Given the description of an element on the screen output the (x, y) to click on. 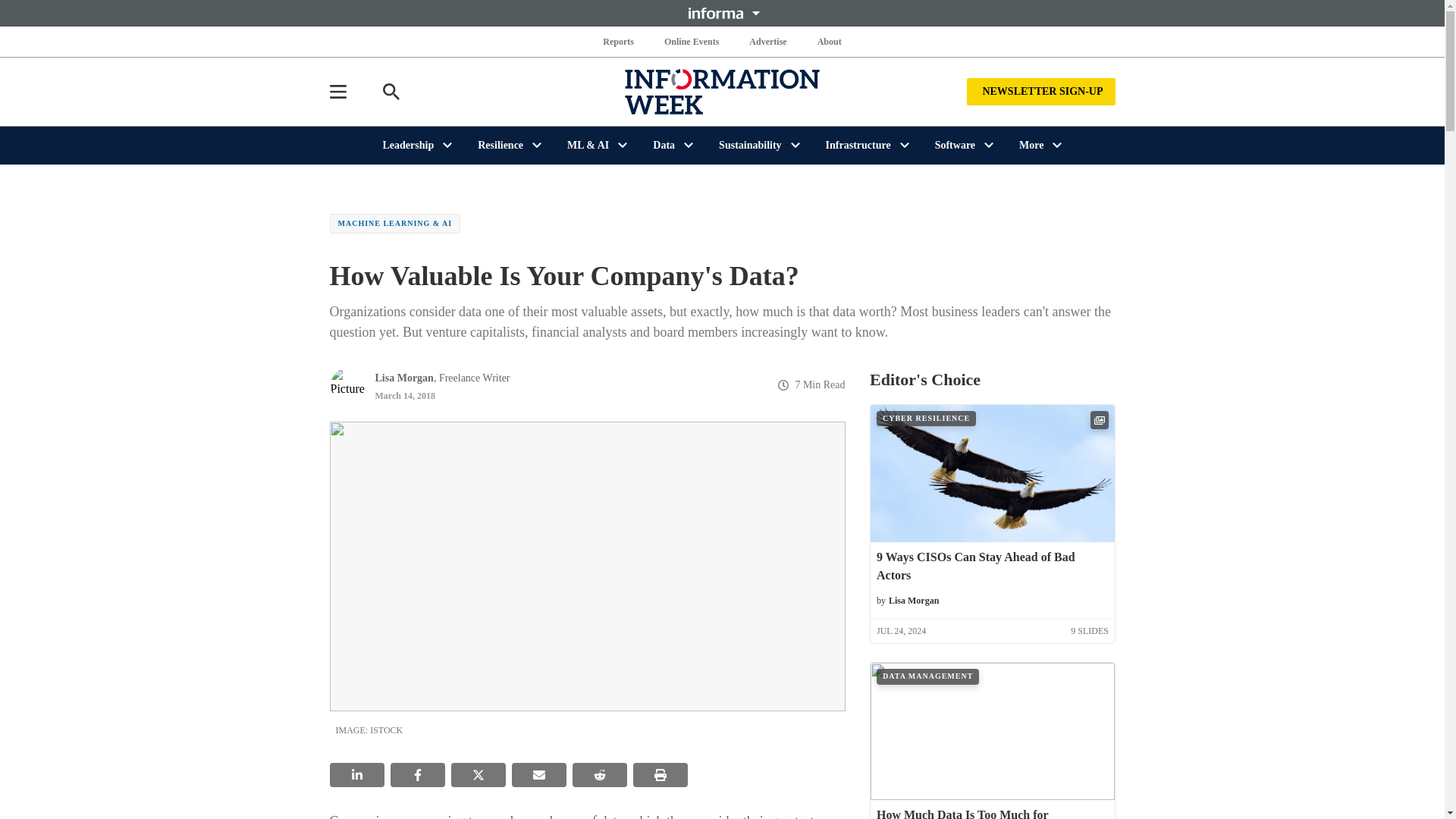
InformationWeek (722, 91)
Advertise (767, 41)
About (828, 41)
Online Events (691, 41)
Reports (618, 41)
NEWSLETTER SIGN-UP (1040, 90)
